Given the description of an element on the screen output the (x, y) to click on. 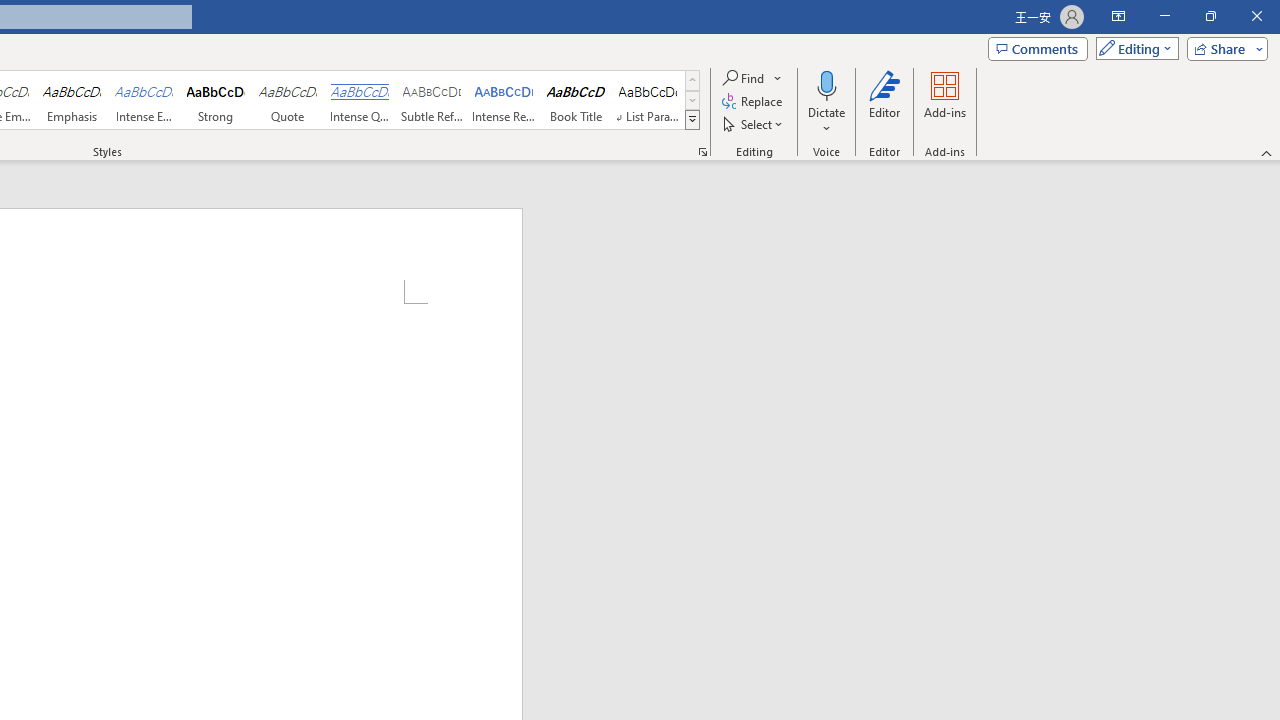
Emphasis (71, 100)
Subtle Reference (431, 100)
Strong (216, 100)
Intense Emphasis (143, 100)
